Given the description of an element on the screen output the (x, y) to click on. 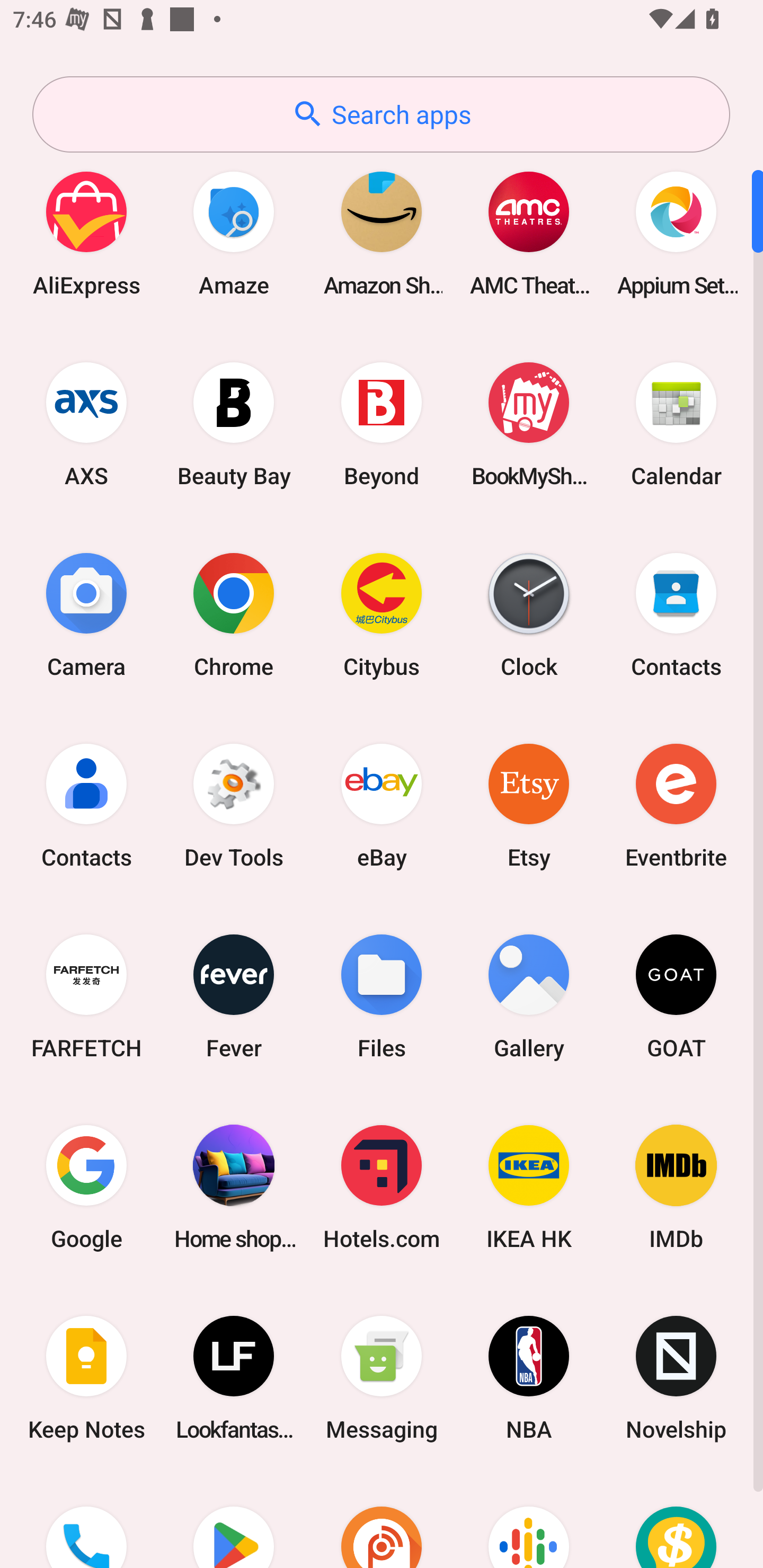
  Search apps (381, 114)
AliExpress (86, 233)
Amaze (233, 233)
Amazon Shopping (381, 233)
AMC Theatres (528, 233)
Appium Settings (676, 233)
AXS (86, 424)
Beauty Bay (233, 424)
Beyond (381, 424)
BookMyShow (528, 424)
Calendar (676, 424)
Camera (86, 614)
Chrome (233, 614)
Citybus (381, 614)
Clock (528, 614)
Contacts (676, 614)
Contacts (86, 805)
Dev Tools (233, 805)
eBay (381, 805)
Etsy (528, 805)
Eventbrite (676, 805)
FARFETCH (86, 996)
Fever (233, 996)
Files (381, 996)
Gallery (528, 996)
GOAT (676, 996)
Google (86, 1186)
Home shopping (233, 1186)
Hotels.com (381, 1186)
IKEA HK (528, 1186)
IMDb (676, 1186)
Keep Notes (86, 1377)
Lookfantastic (233, 1377)
Messaging (381, 1377)
NBA (528, 1377)
Novelship (676, 1377)
Phone (86, 1520)
Play Store (233, 1520)
Podcast Addict (381, 1520)
Podcasts (528, 1520)
Price (676, 1520)
